Given the description of an element on the screen output the (x, y) to click on. 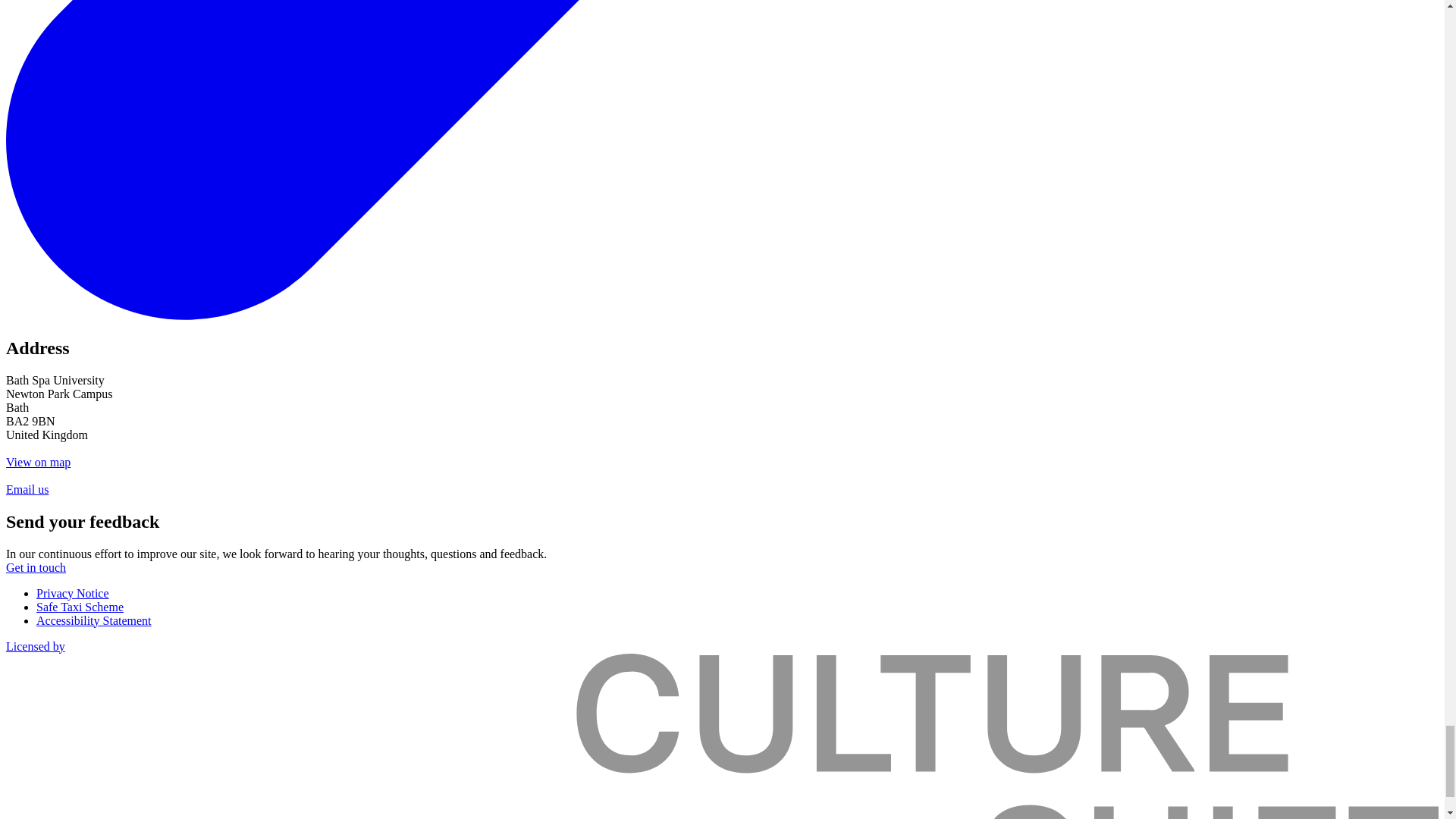
Accessibility Statement (93, 620)
View on map (37, 461)
Get in touch (35, 567)
Email us (26, 489)
Safe Taxi Scheme (79, 606)
Privacy Notice (72, 593)
